Given the description of an element on the screen output the (x, y) to click on. 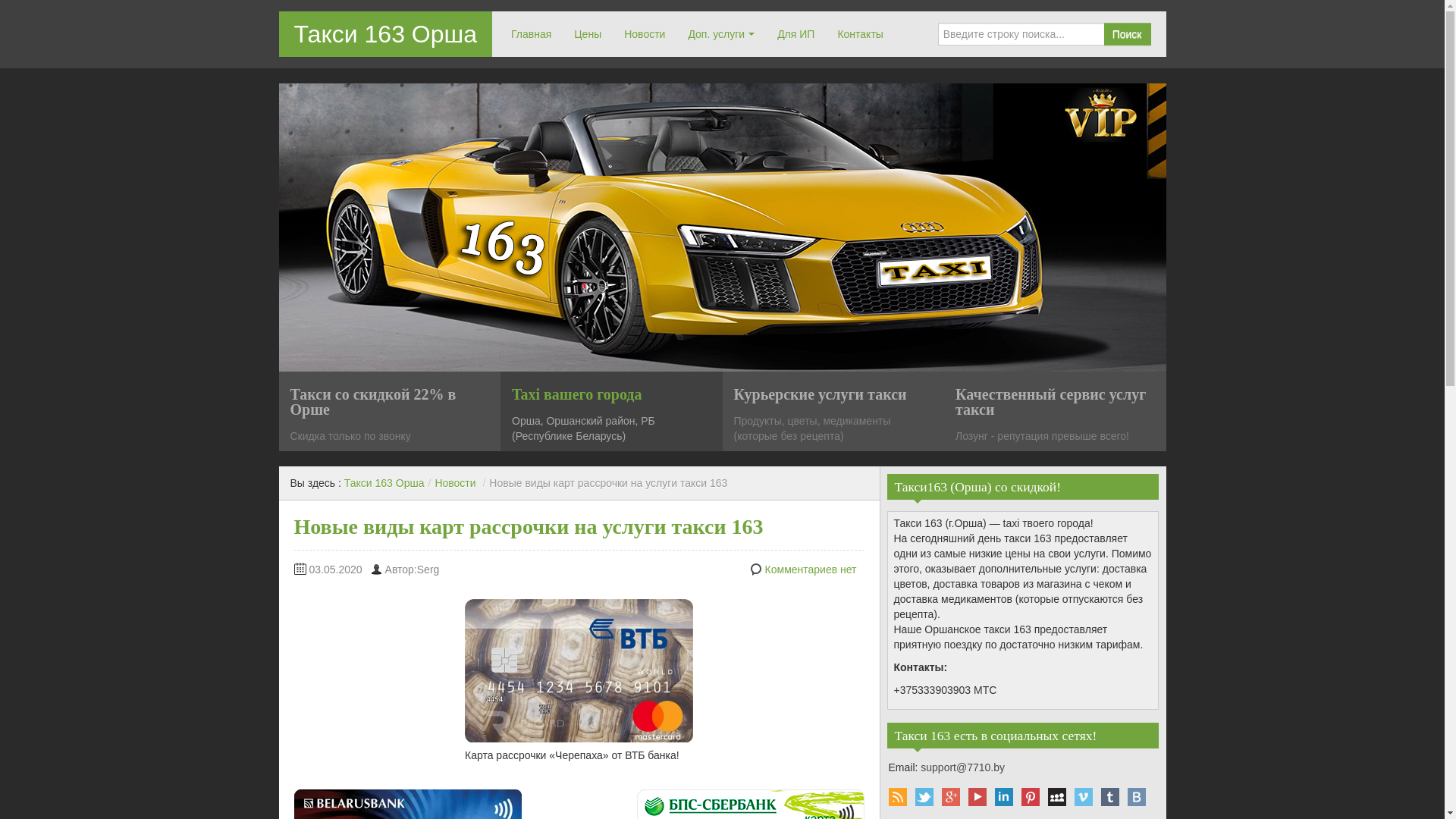
Google Plus Element type: hover (950, 796)
Tumblr Element type: hover (1110, 796)
Vimeo Element type: hover (1082, 796)
Linkedin Element type: hover (1003, 796)
Twitter Element type: hover (923, 796)
RSS Element type: hover (897, 796)
Pinterest Element type: hover (1029, 796)
Myspace Element type: hover (1057, 796)
YouTube Element type: hover (976, 796)
support@7710.by Element type: text (962, 767)
